Given the description of an element on the screen output the (x, y) to click on. 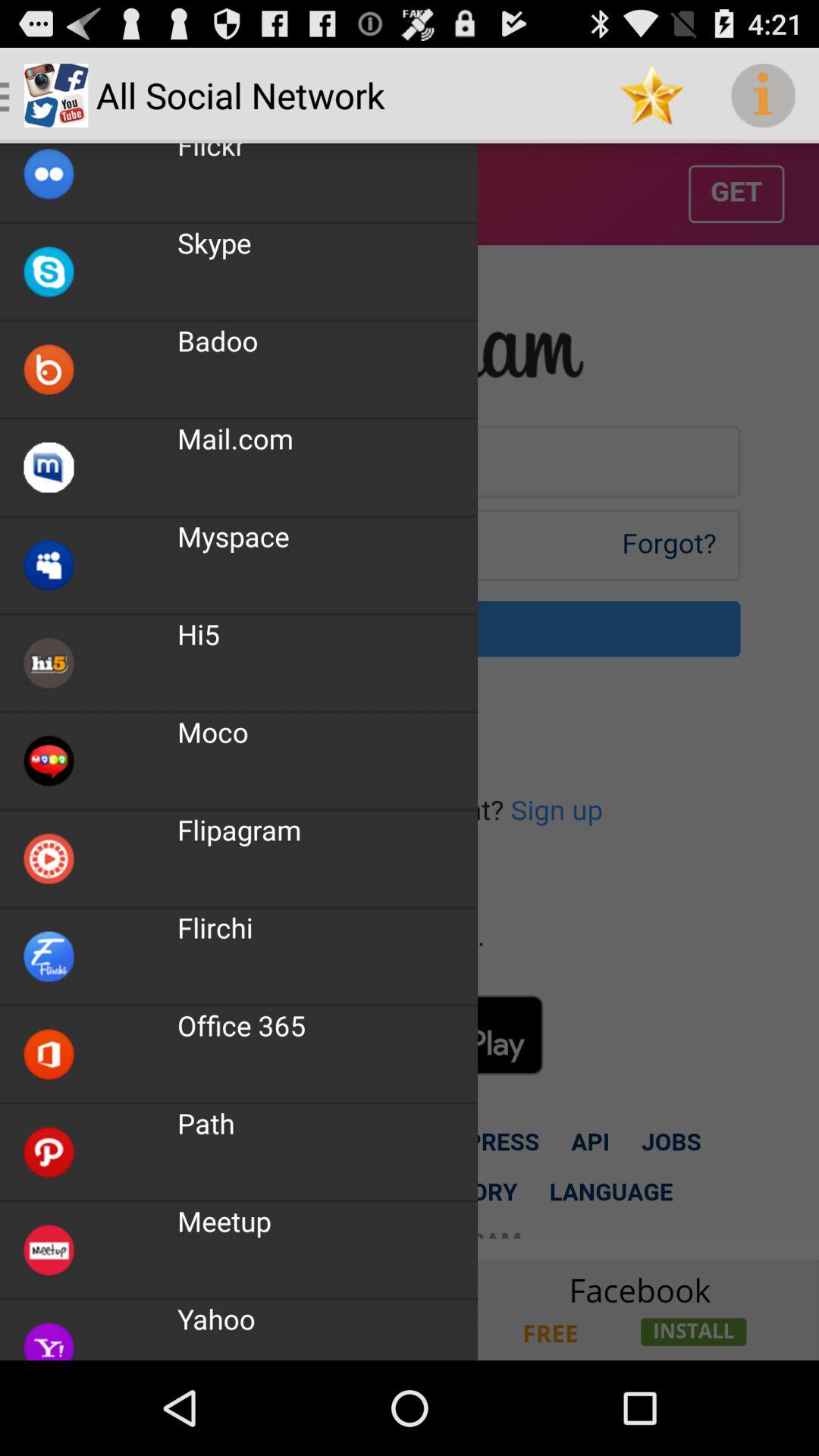
go to yahoo (409, 1309)
